Given the description of an element on the screen output the (x, y) to click on. 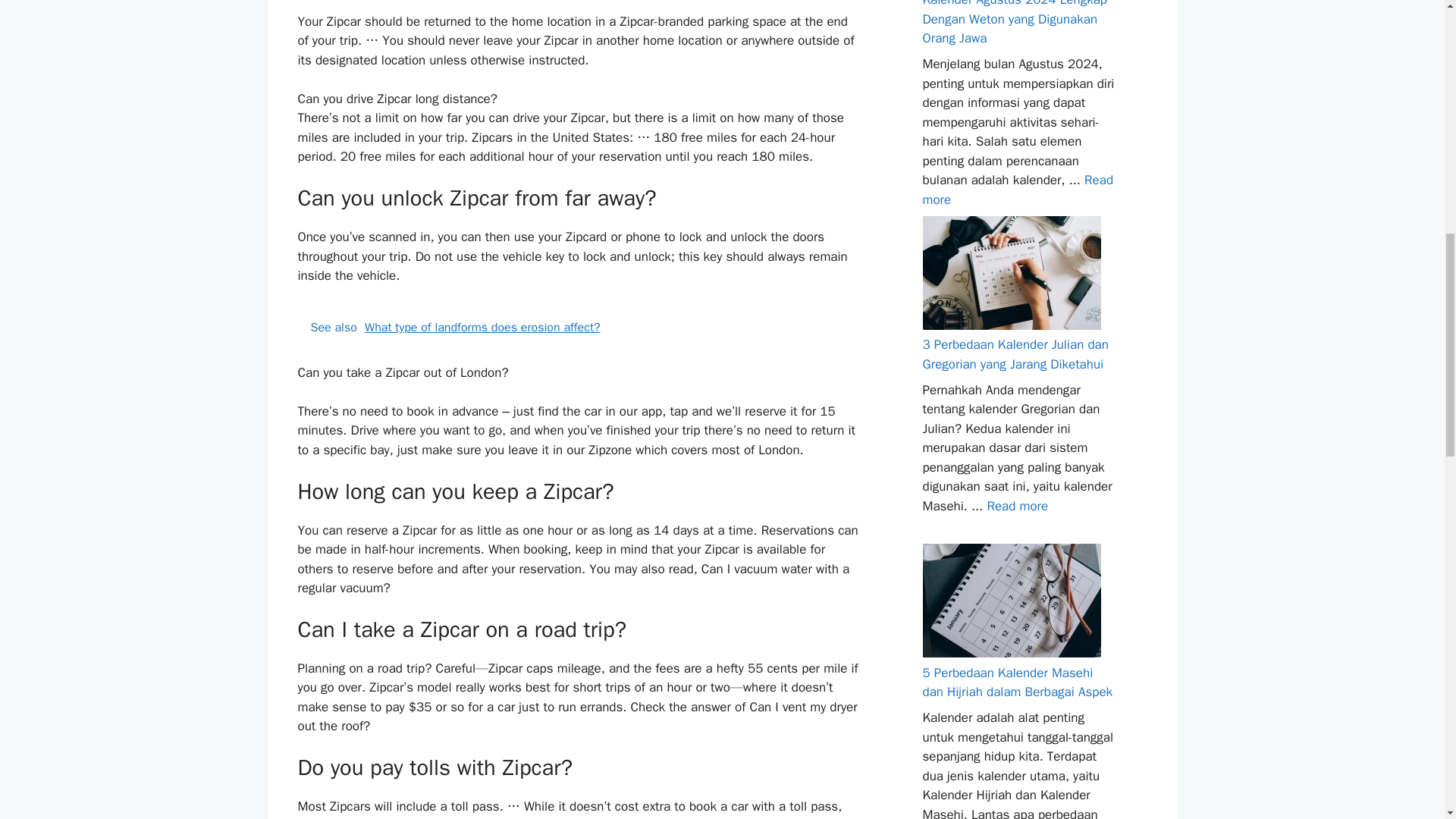
See also  What type of landforms does erosion affect? (579, 327)
